Given the description of an element on the screen output the (x, y) to click on. 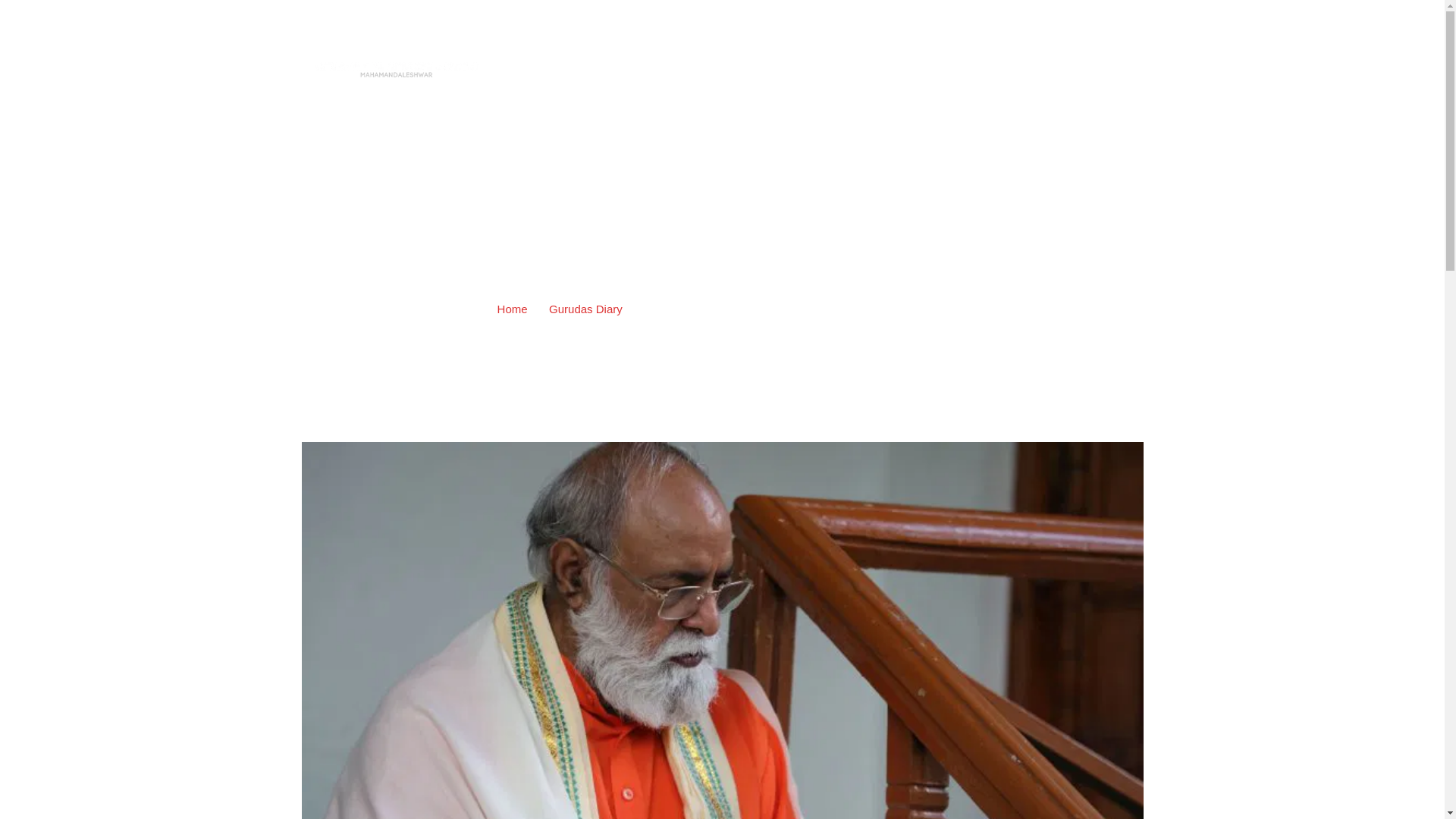
BLOG (953, 70)
HOME (604, 70)
Gurudas Diary (585, 308)
LIVE SAMAGAM (873, 70)
HOME (604, 70)
BLOG (953, 70)
011 4994 5995 (959, 17)
CITATIONS (779, 70)
SAMAGAM LIST (686, 70)
SAMAGAM LIST (686, 70)
CONTACT US (1103, 70)
ABOUT US (1021, 70)
Home (512, 308)
LIVE SAMAGAM (873, 70)
ABOUT US (1021, 70)
